Given the description of an element on the screen output the (x, y) to click on. 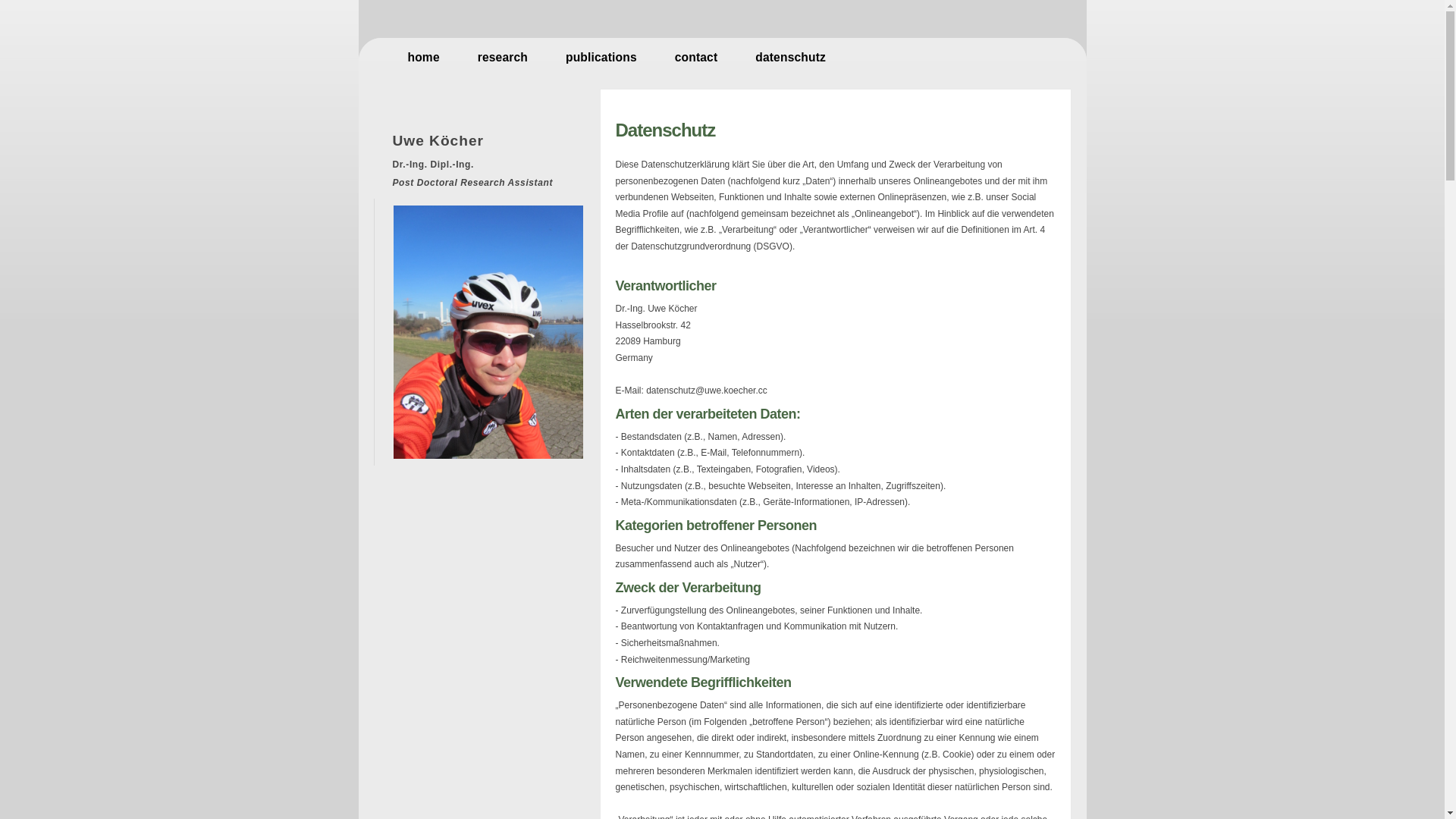
research Element type: text (502, 56)
contact Element type: text (696, 56)
publications Element type: text (601, 56)
datenschutz Element type: text (790, 56)
home Element type: text (423, 56)
